Given the description of an element on the screen output the (x, y) to click on. 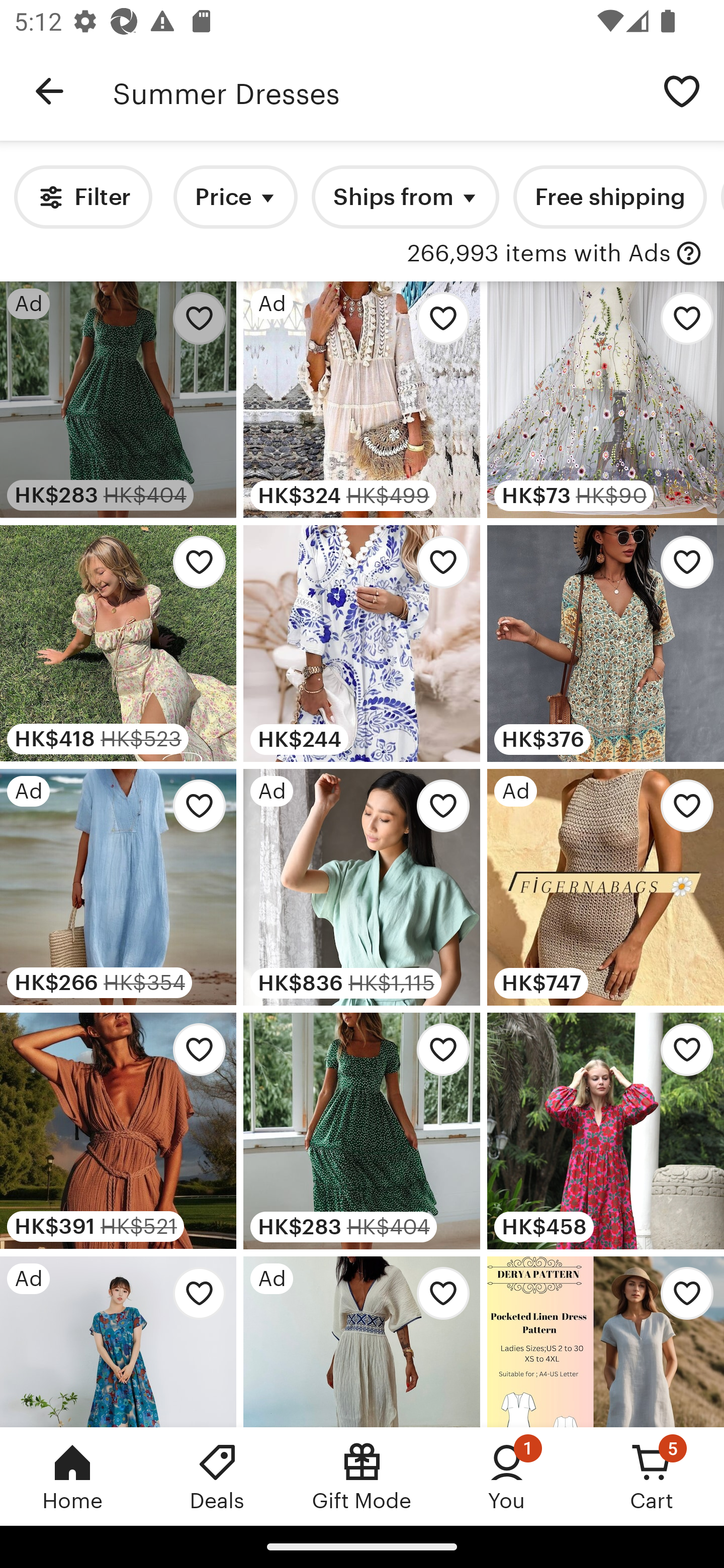
Navigate up (49, 91)
Save search (681, 90)
Summer Dresses (375, 91)
Filter (82, 197)
Price (235, 197)
Ships from (405, 197)
Free shipping (609, 197)
266,993 items with Ads (538, 253)
with Ads (688, 253)
Deals (216, 1475)
Gift Mode (361, 1475)
You, 1 new notification You (506, 1475)
Cart, 5 new notifications Cart (651, 1475)
